Given the description of an element on the screen output the (x, y) to click on. 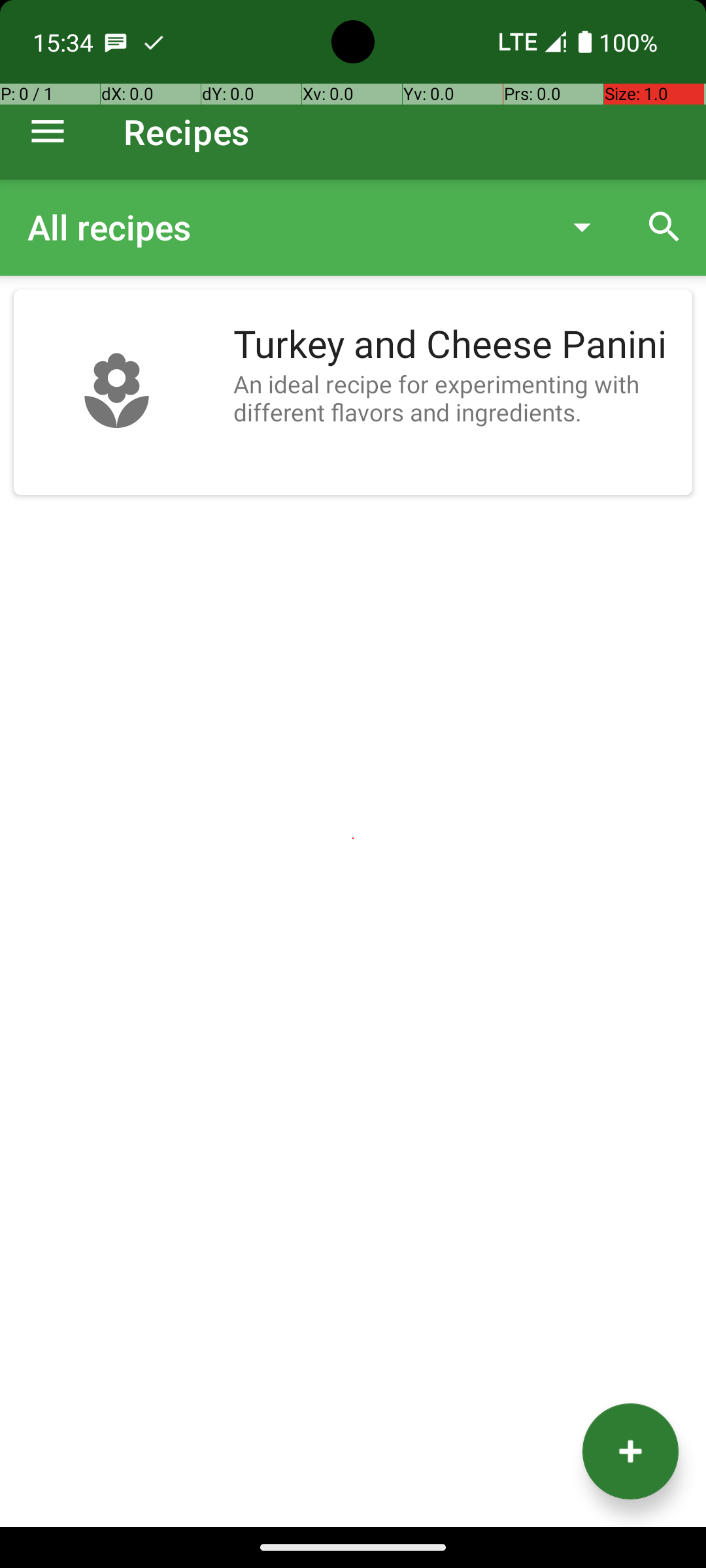
Turkey and Cheese Panini Element type: android.widget.TextView (455, 344)
